Given the description of an element on the screen output the (x, y) to click on. 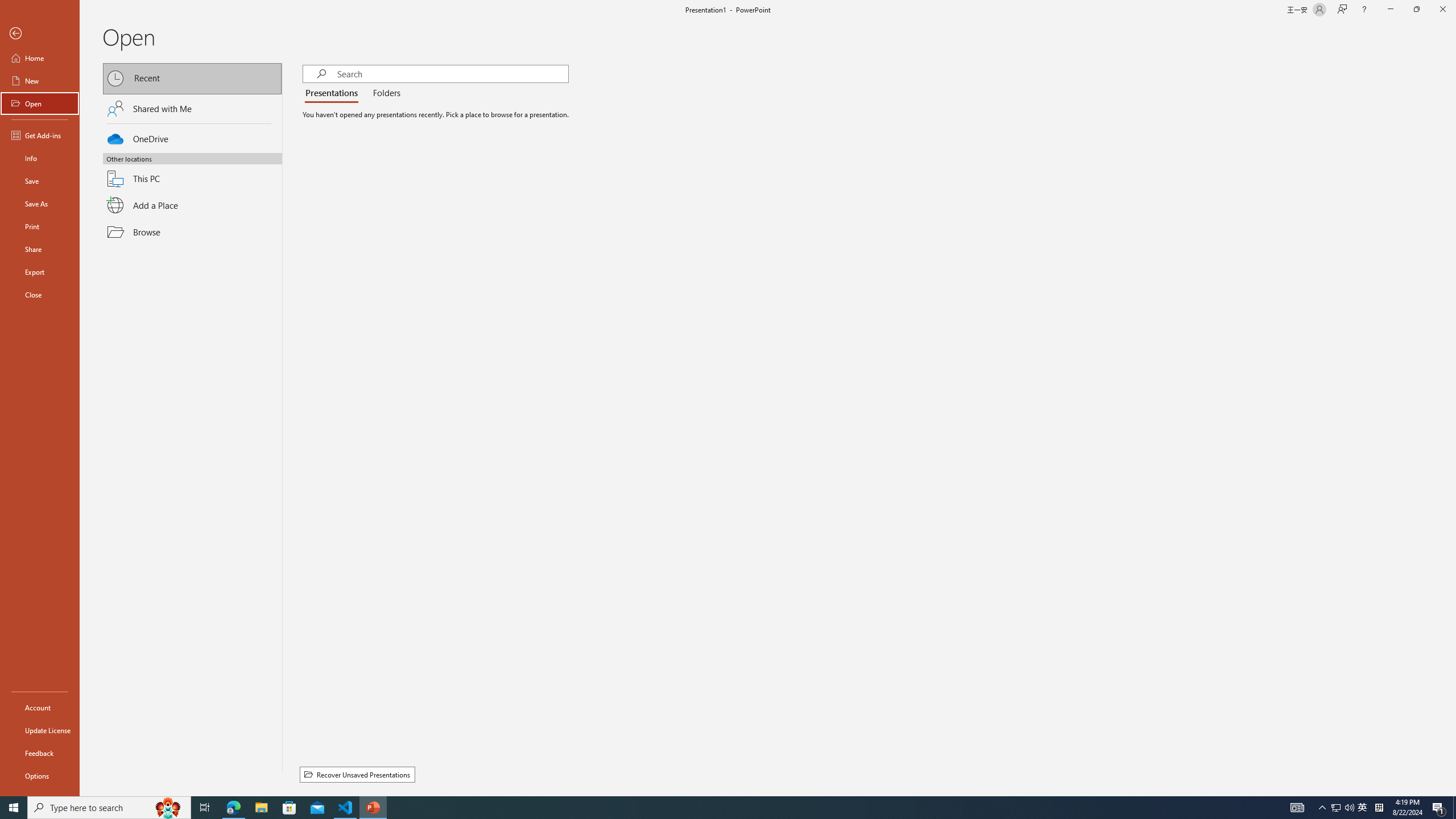
New (40, 80)
Update License (40, 730)
OneDrive (192, 136)
